Given the description of an element on the screen output the (x, y) to click on. 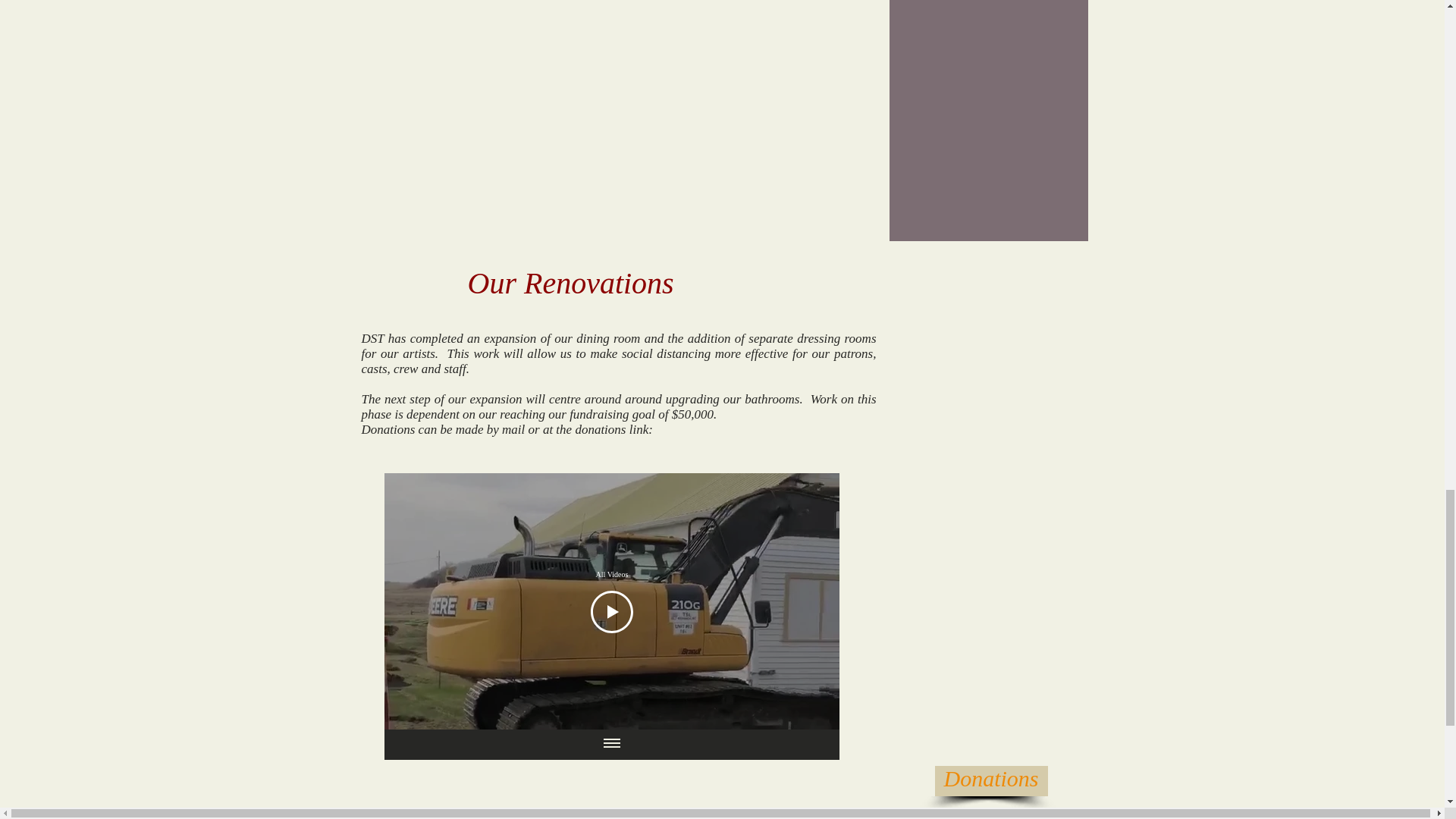
Donations (990, 780)
All Videos (611, 573)
